Given the description of an element on the screen output the (x, y) to click on. 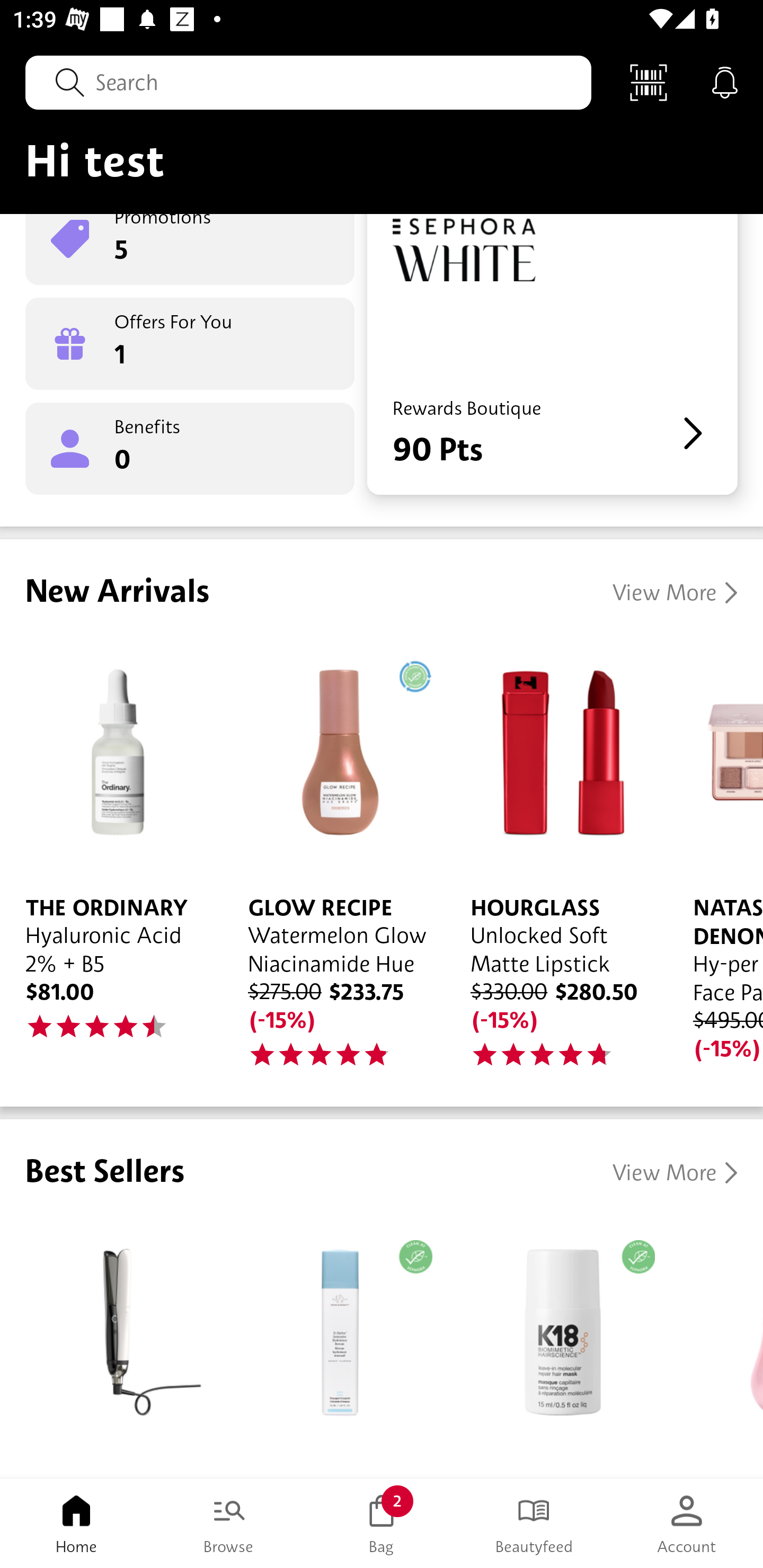
Scan Code (648, 81)
Notifications (724, 81)
Search (308, 81)
Promotions 5 (189, 249)
Rewards Boutique 90 Pts (552, 354)
Offers For You 1 (189, 343)
Benefits 0 (189, 448)
View More (674, 592)
THE ORDINARY Hyaluronic Acid 2% + B5 $81.00 45.0 (111, 851)
View More (674, 1172)
GHD (111, 1347)
DRUNK ELEPHANT (333, 1347)
K18 (555, 1347)
Browse (228, 1523)
Bag 2 Bag (381, 1523)
Beautyfeed (533, 1523)
Account (686, 1523)
